Given the description of an element on the screen output the (x, y) to click on. 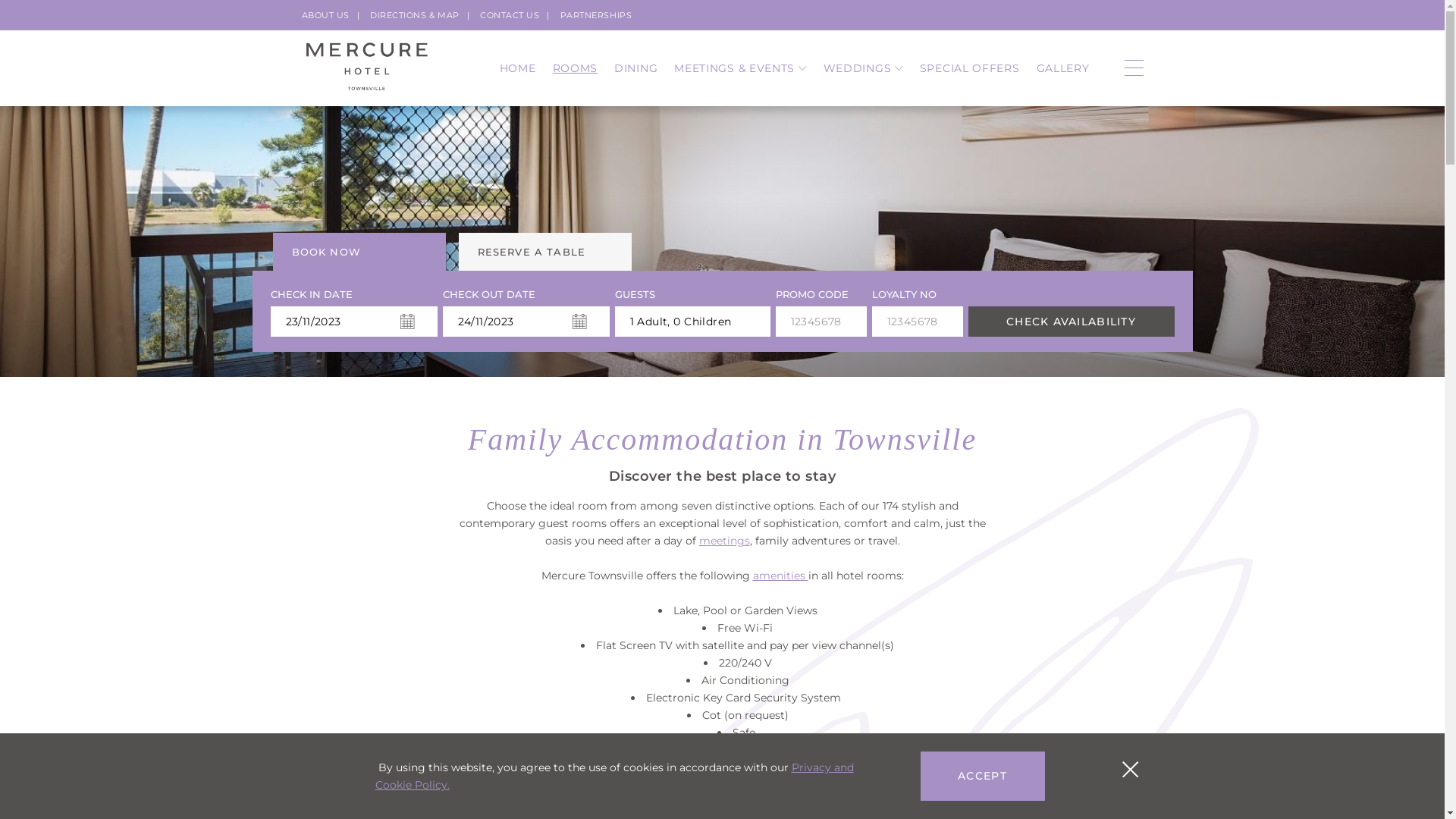
DIRECTIONS & MAP Element type: text (414, 14)
ACCEPT Element type: text (982, 775)
amenities Element type: text (779, 575)
GALLERY Element type: text (1062, 68)
HOME Element type: text (517, 68)
DINING Element type: text (635, 68)
SPECIAL OFFERS Element type: text (969, 68)
CHECK AVAILABILITY Element type: text (1070, 321)
WEDDINGS Element type: text (863, 68)
CONTACT US Element type: text (509, 14)
RESERVE A TABLE Element type: text (544, 251)
ABOUT US Element type: text (325, 14)
Privacy and Cookie Policy. Element type: text (613, 775)
BOOK NOW Element type: text (359, 251)
MEETINGS & EVENTS Element type: text (740, 68)
meetings Element type: text (724, 540)
1 Adult, 0 Children Element type: text (691, 321)
ROOMS Element type: text (574, 68)
PARTNERSHIPS Element type: text (596, 14)
